Given the description of an element on the screen output the (x, y) to click on. 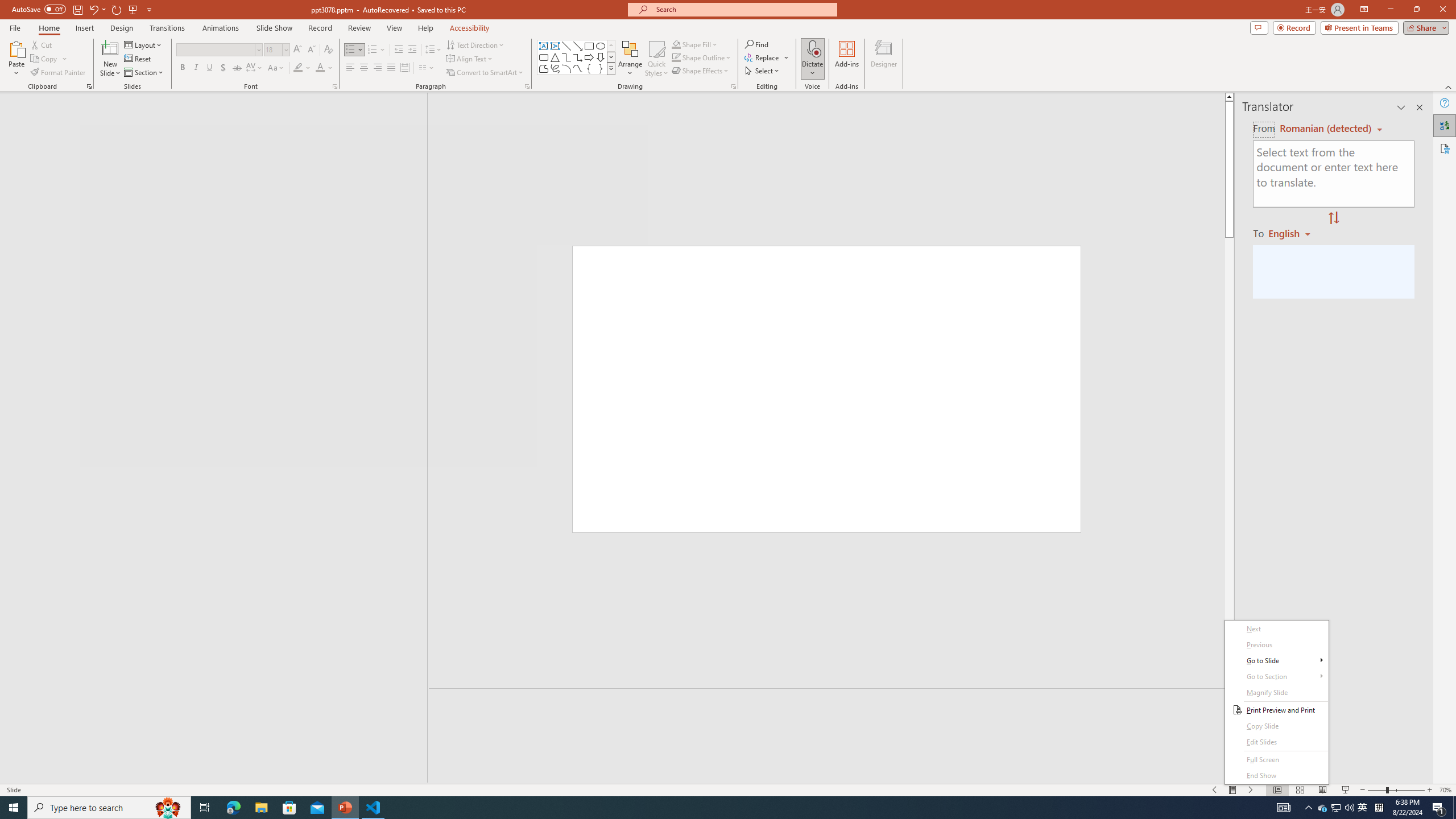
Dictate (812, 58)
Romanian (detected) (1323, 128)
Reset (138, 58)
End Show (1276, 775)
Copy Slide (1276, 726)
Start (13, 807)
Text Highlight Color (302, 67)
Task Pane Options (1400, 107)
Copy (49, 58)
File Explorer (261, 807)
